Given the description of an element on the screen output the (x, y) to click on. 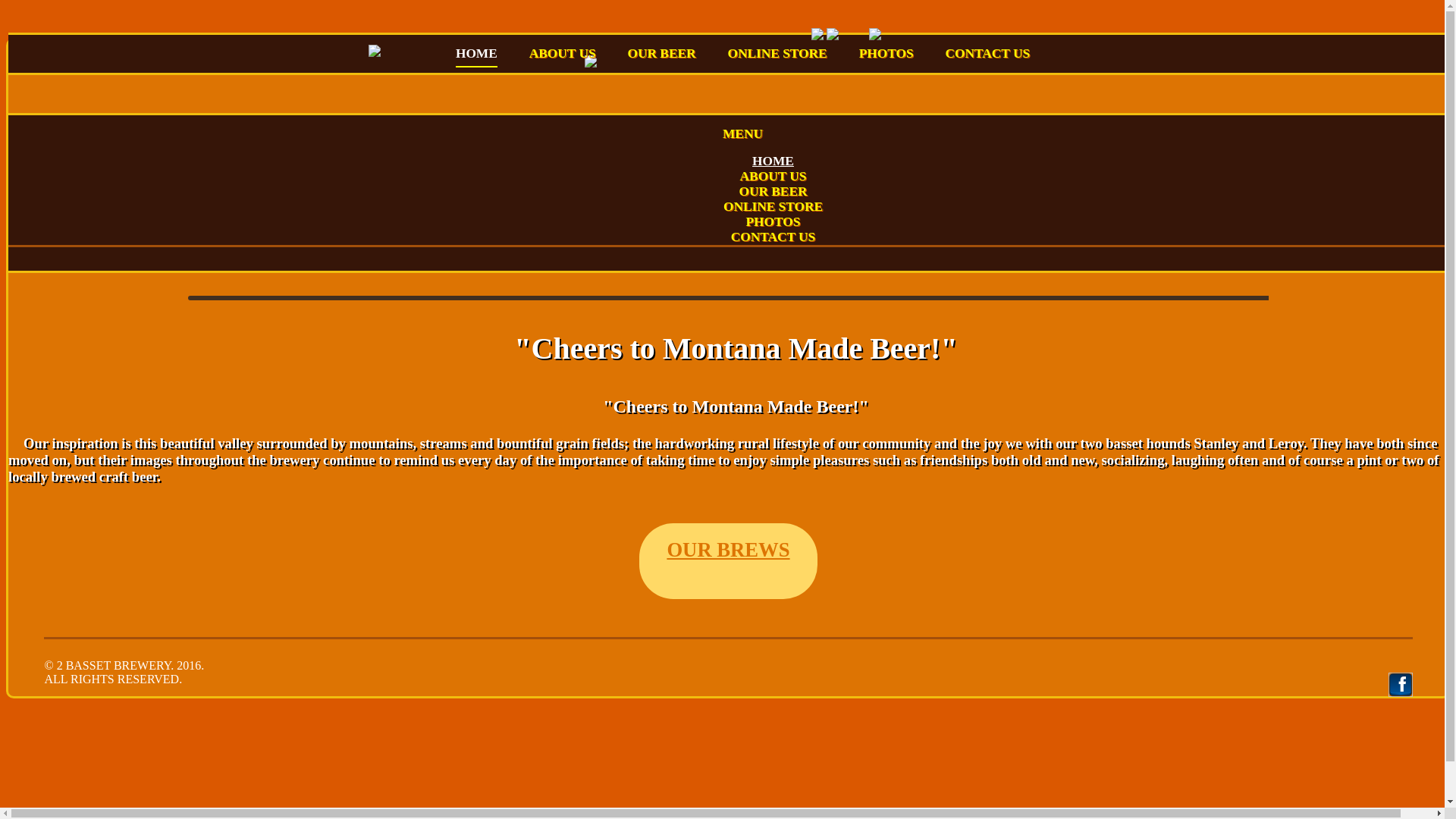
HOME Element type: text (476, 56)
MENU Element type: text (742, 136)
PHOTOS Element type: text (773, 224)
PHOTOS Element type: text (886, 55)
OUR BREWS Element type: text (728, 561)
OUR BEER Element type: text (772, 193)
ONLINE STORE Element type: text (772, 209)
HOME Element type: text (772, 163)
ONLINE STORE Element type: text (777, 55)
CONTACT US Element type: text (986, 55)
ABOUT US Element type: text (773, 178)
CONTACT US Element type: text (773, 239)
ABOUT US Element type: text (562, 55)
OUR BEER Element type: text (661, 55)
